Given the description of an element on the screen output the (x, y) to click on. 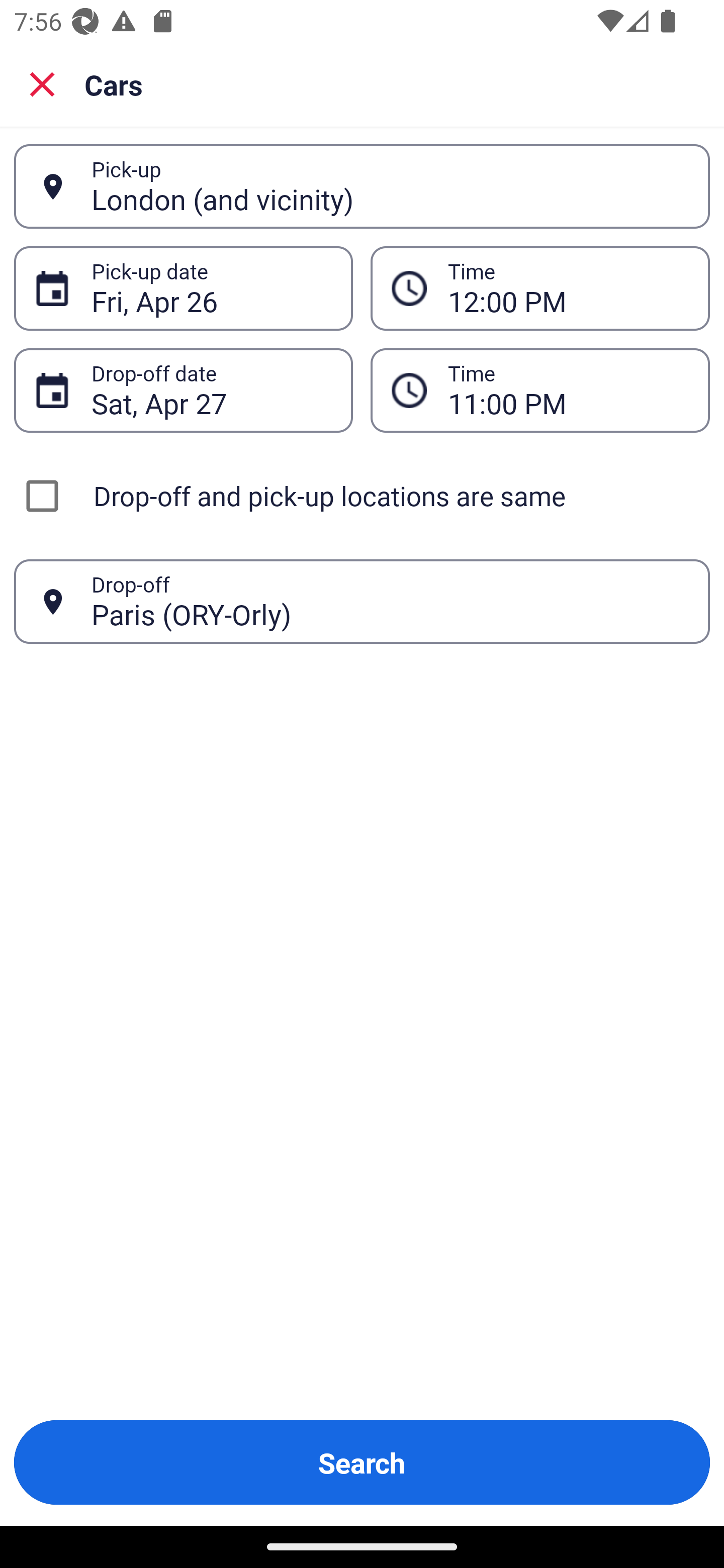
Close search screen (41, 83)
London (and vicinity) Pick-up (361, 186)
London (and vicinity) (389, 186)
Fri, Apr 26 Pick-up date (183, 288)
12:00 PM (540, 288)
Fri, Apr 26 (211, 288)
12:00 PM (568, 288)
Sat, Apr 27 Drop-off date (183, 390)
11:00 PM (540, 390)
Sat, Apr 27 (211, 390)
11:00 PM (568, 390)
Drop-off and pick-up locations are same (361, 495)
Paris (ORY-Orly) Drop-off (361, 601)
Paris (ORY-Orly) (389, 601)
Search Button Search (361, 1462)
